Given the description of an element on the screen output the (x, y) to click on. 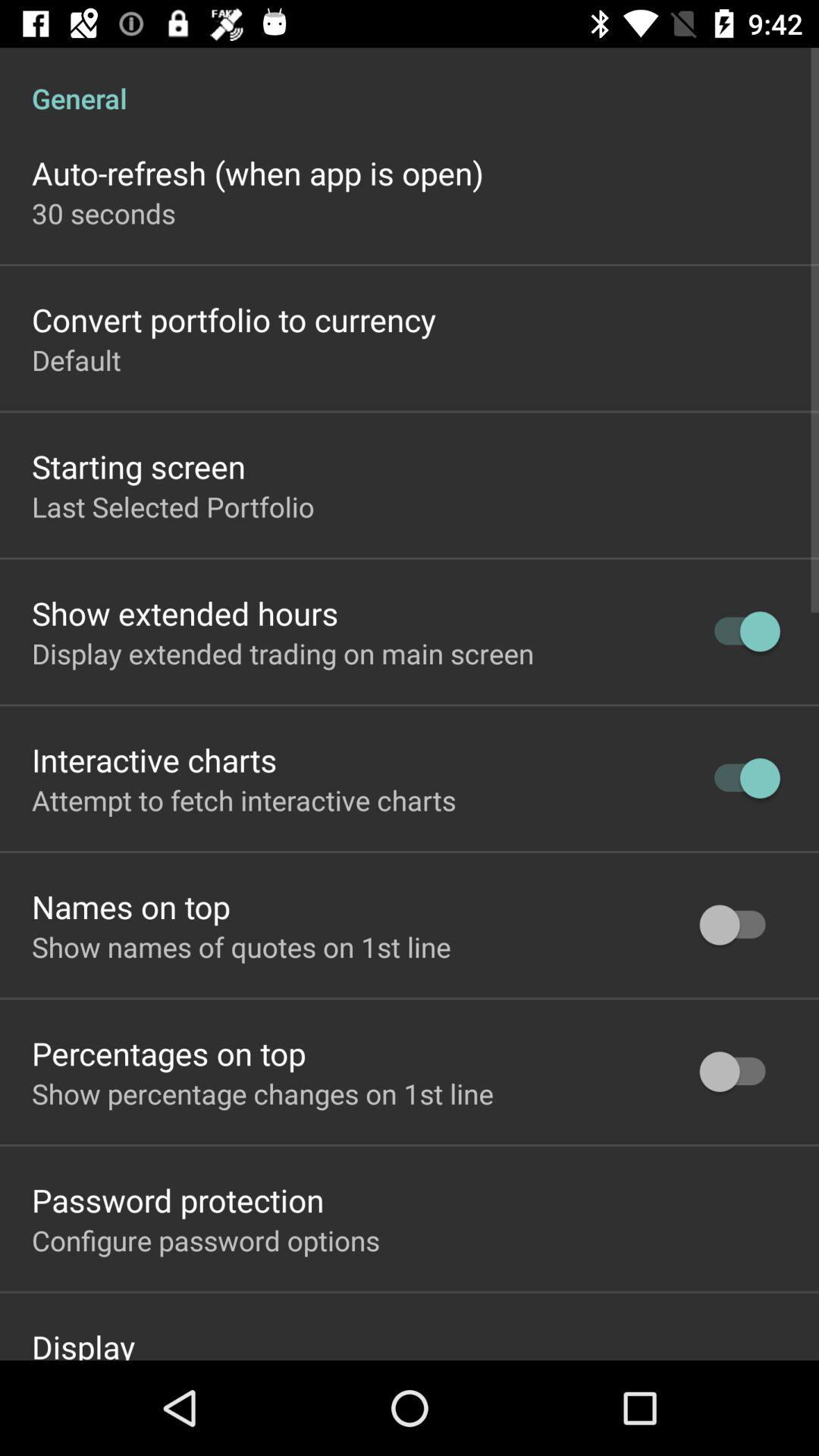
jump until display extended trading (282, 653)
